Given the description of an element on the screen output the (x, y) to click on. 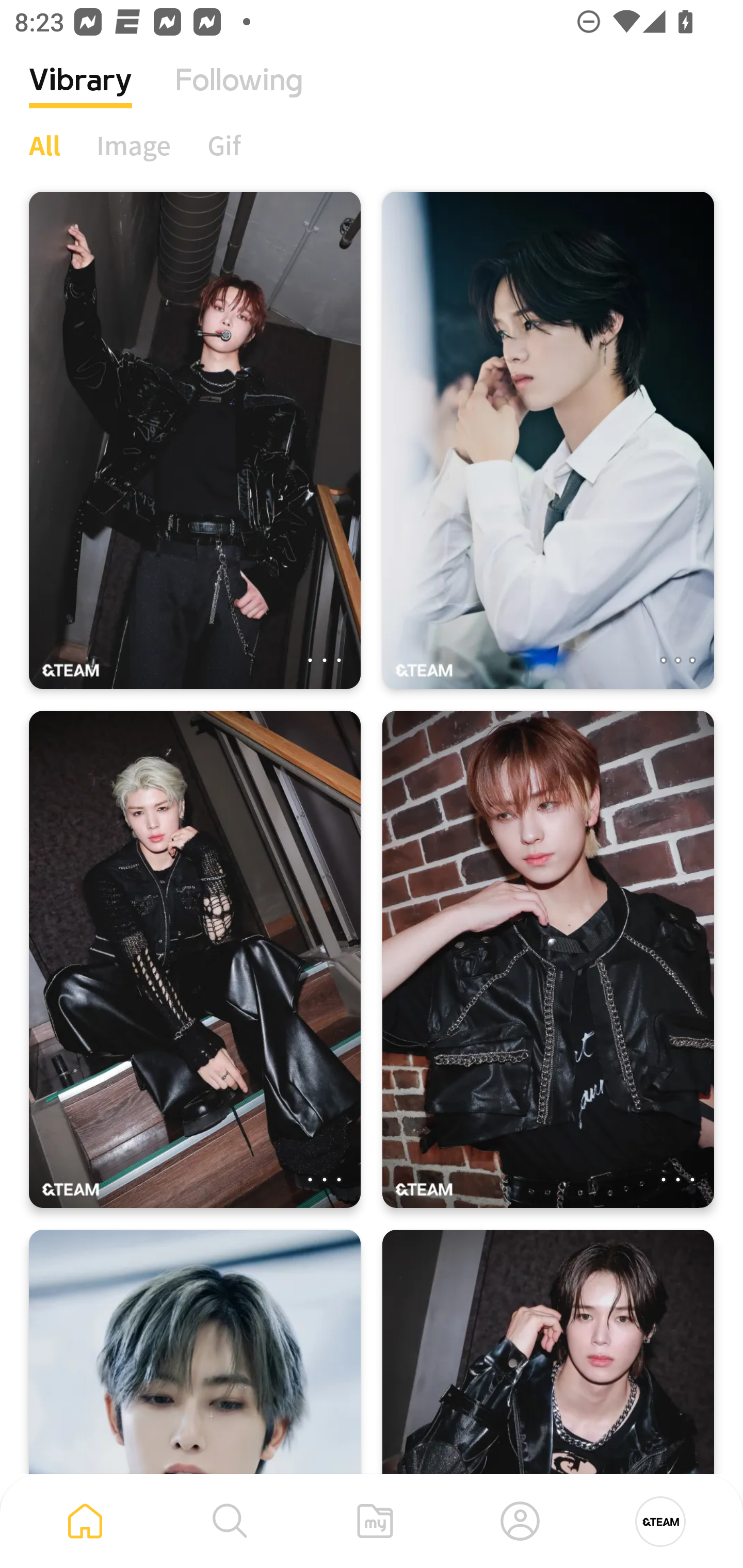
Vibrary (80, 95)
Following (239, 95)
All (44, 145)
Image (133, 145)
Gif (223, 145)
